Given the description of an element on the screen output the (x, y) to click on. 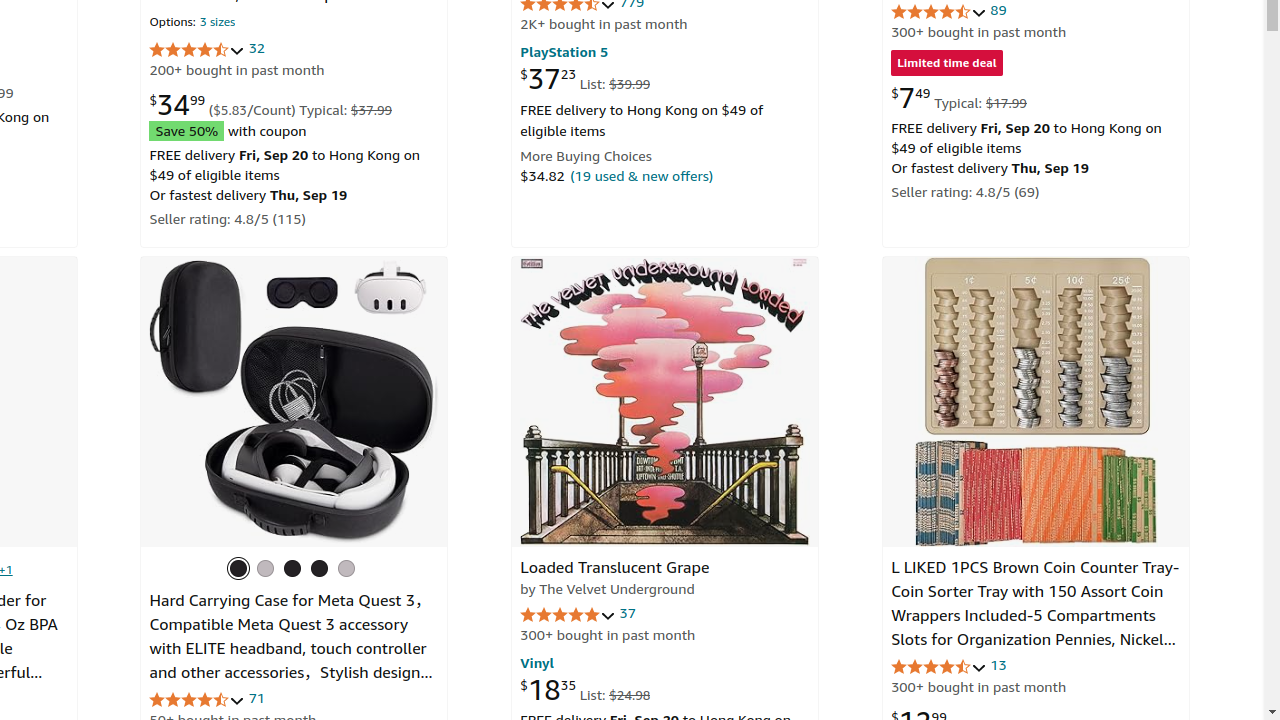
Off White Element type: push-button (292, 568)
Loaded Translucent Grape Element type: link (665, 401)
(19 used & new offers) Element type: link (642, 175)
89 Element type: link (998, 10)
Hard Carrying Case for Meta Quest 3，Compatible Meta Quest 3 accessory with ELITE headband, touch controller and other accessories，Stylish design for traveling，Black Element type: link (290, 649)
